Given the description of an element on the screen output the (x, y) to click on. 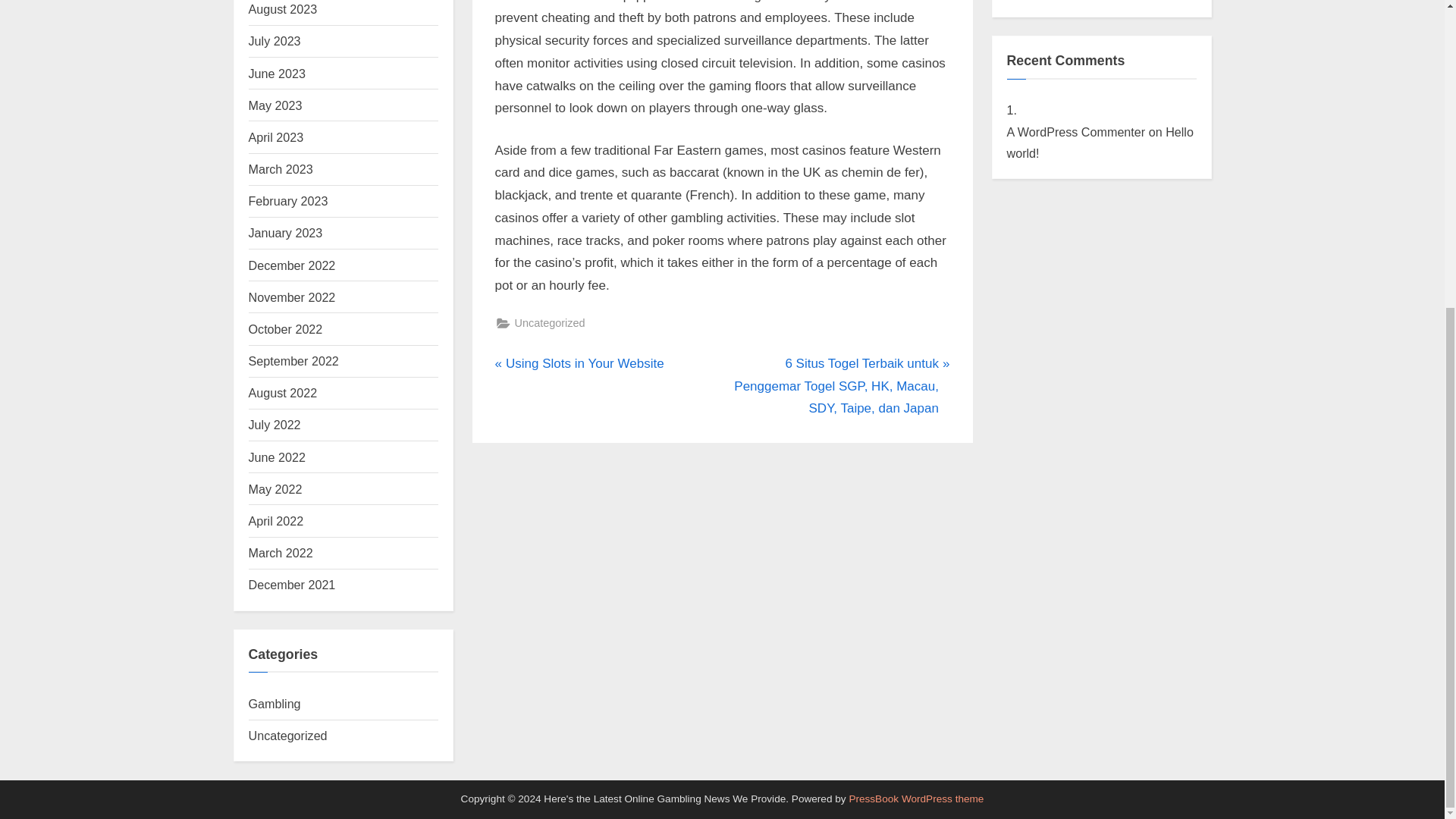
July 2022 (274, 424)
May 2022 (275, 489)
March 2022 (280, 552)
February 2023 (288, 201)
January 2023 (285, 232)
August 2023 (282, 8)
Uncategorized (287, 735)
October 2022 (285, 328)
Gambling (274, 703)
December 2021 (292, 584)
November 2022 (292, 296)
December 2022 (292, 264)
April 2023 (276, 137)
